Given the description of an element on the screen output the (x, y) to click on. 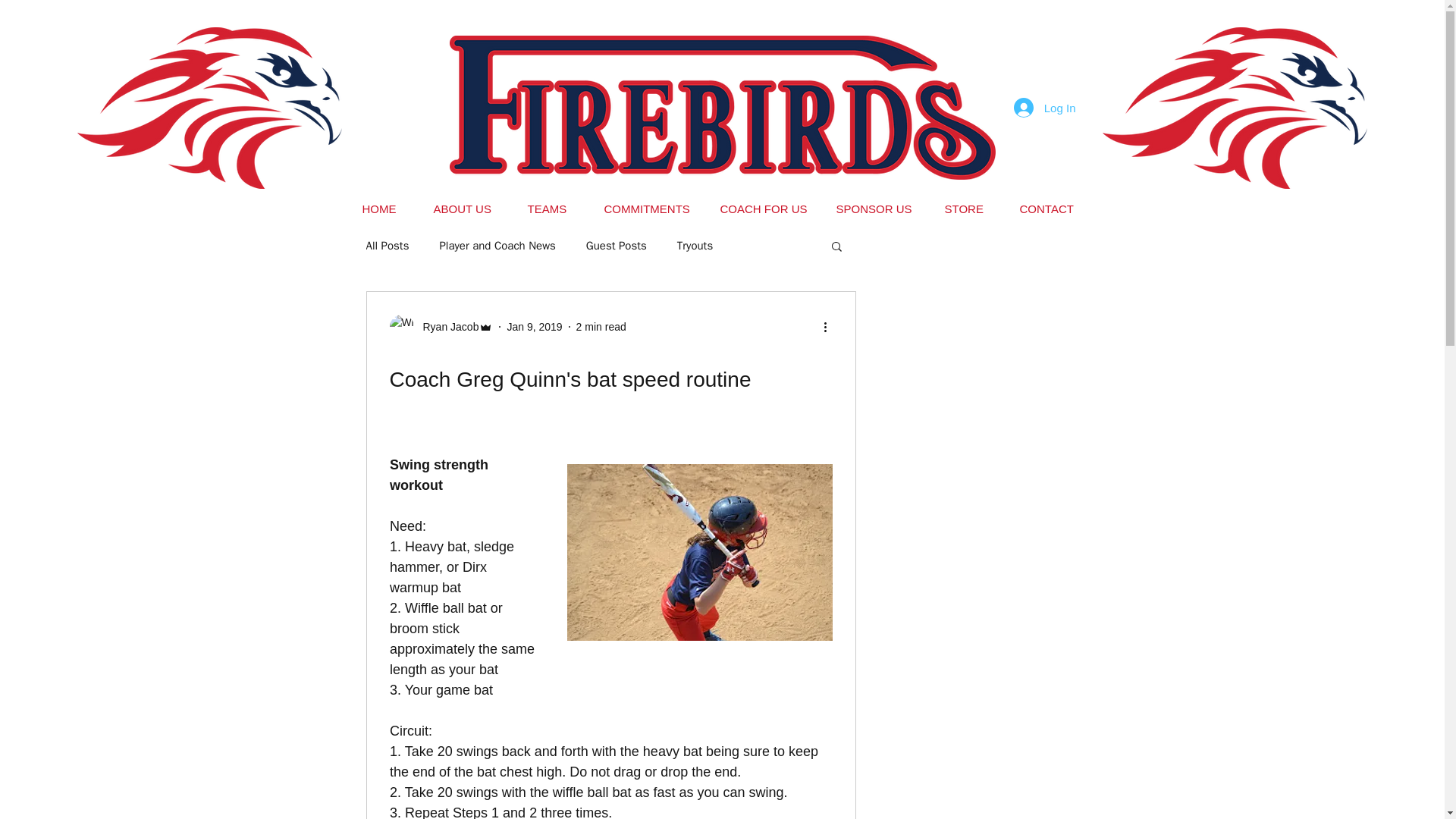
COACH FOR US (765, 208)
TEAMS (553, 208)
2 min read (601, 326)
All Posts (387, 245)
STORE (970, 208)
Jan 9, 2019 (534, 326)
HOME (386, 208)
Guest Posts (616, 245)
Player and Coach News (496, 245)
CONTACT (1051, 208)
Tryouts (695, 245)
Log In (1044, 107)
SPONSOR US (879, 208)
Ryan Jacob (441, 326)
Ryan Jacob (446, 326)
